Given the description of an element on the screen output the (x, y) to click on. 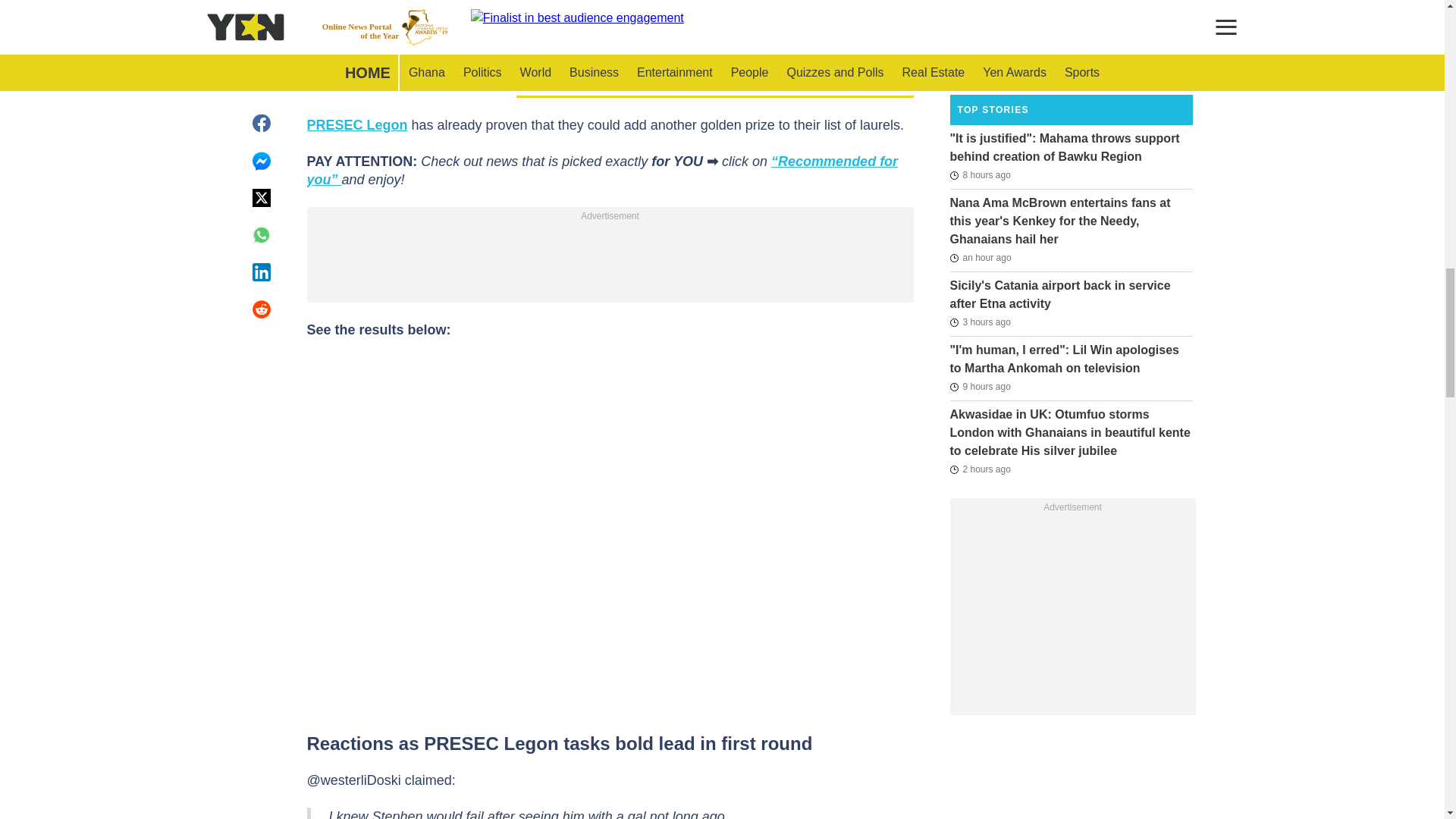
2024-08-04T17:20:10Z (979, 321)
2024-08-04T18:47:22Z (979, 469)
2024-08-04T12:28:14Z (979, 175)
2024-08-04T11:15:36Z (979, 386)
2024-08-04T19:23:38Z (979, 257)
2024-07-30T09:32:50Z (978, 65)
